Given the description of an element on the screen output the (x, y) to click on. 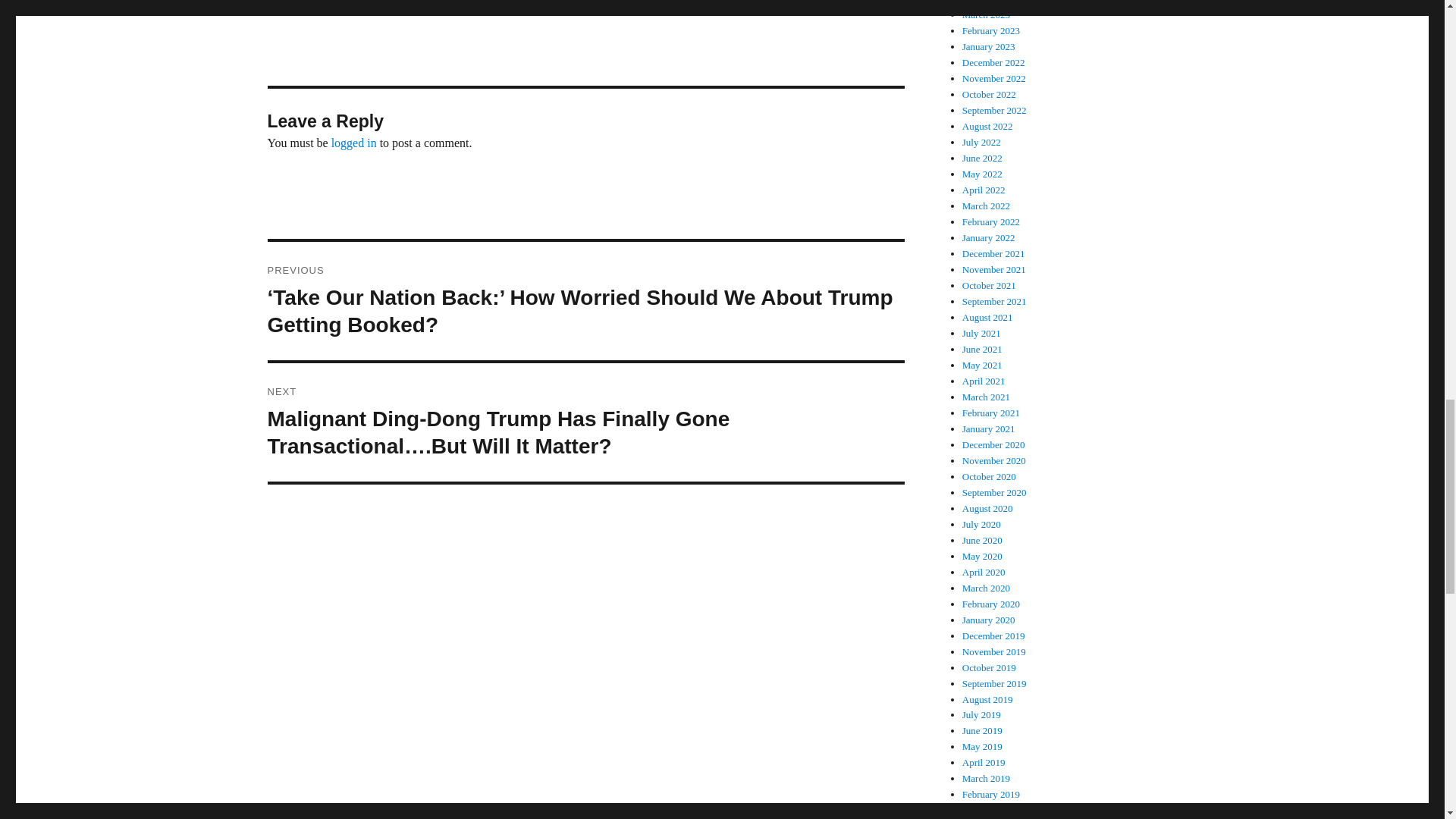
logged in (354, 142)
